Given the description of an element on the screen output the (x, y) to click on. 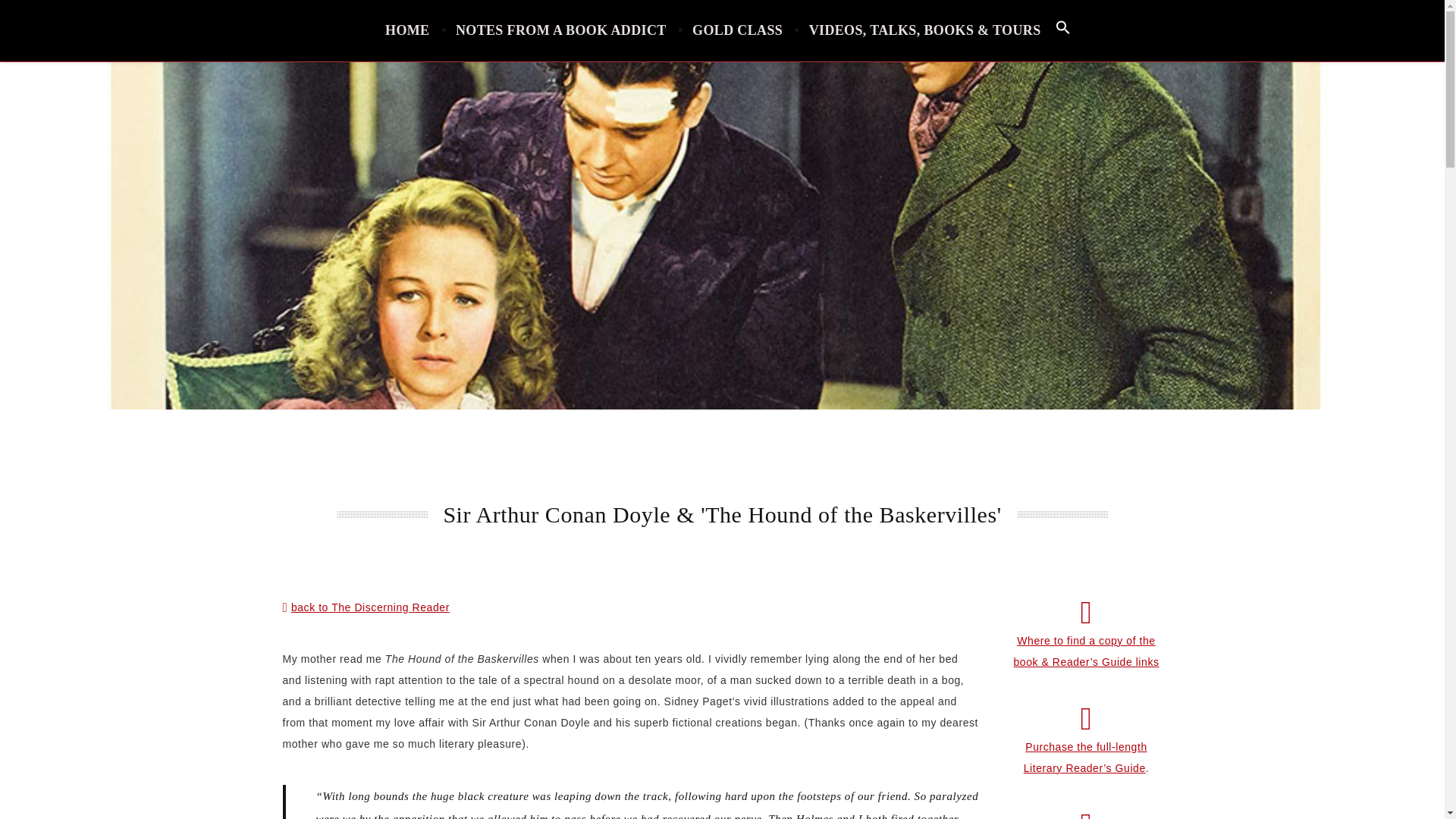
GOLD CLASS (737, 30)
HOME (407, 30)
NOTES FROM A BOOK ADDICT (561, 30)
